Given the description of an element on the screen output the (x, y) to click on. 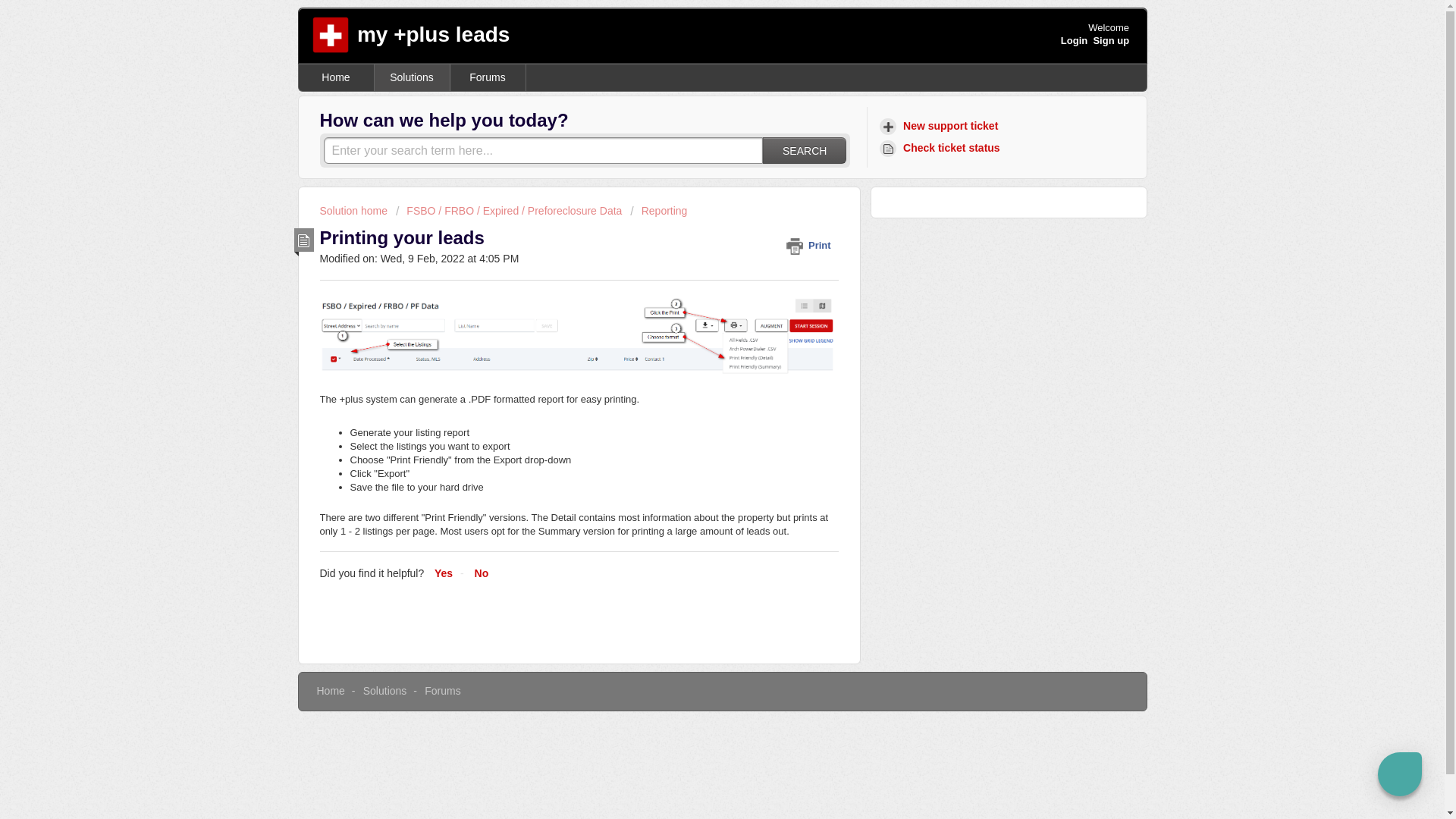
New support ticket (940, 126)
Sign up (1111, 40)
Print this Article (812, 244)
Home (331, 690)
Solutions (411, 77)
SEARCH (803, 150)
Check ticket status (941, 147)
Reporting (658, 210)
Print (812, 244)
Forums (487, 77)
